Given the description of an element on the screen output the (x, y) to click on. 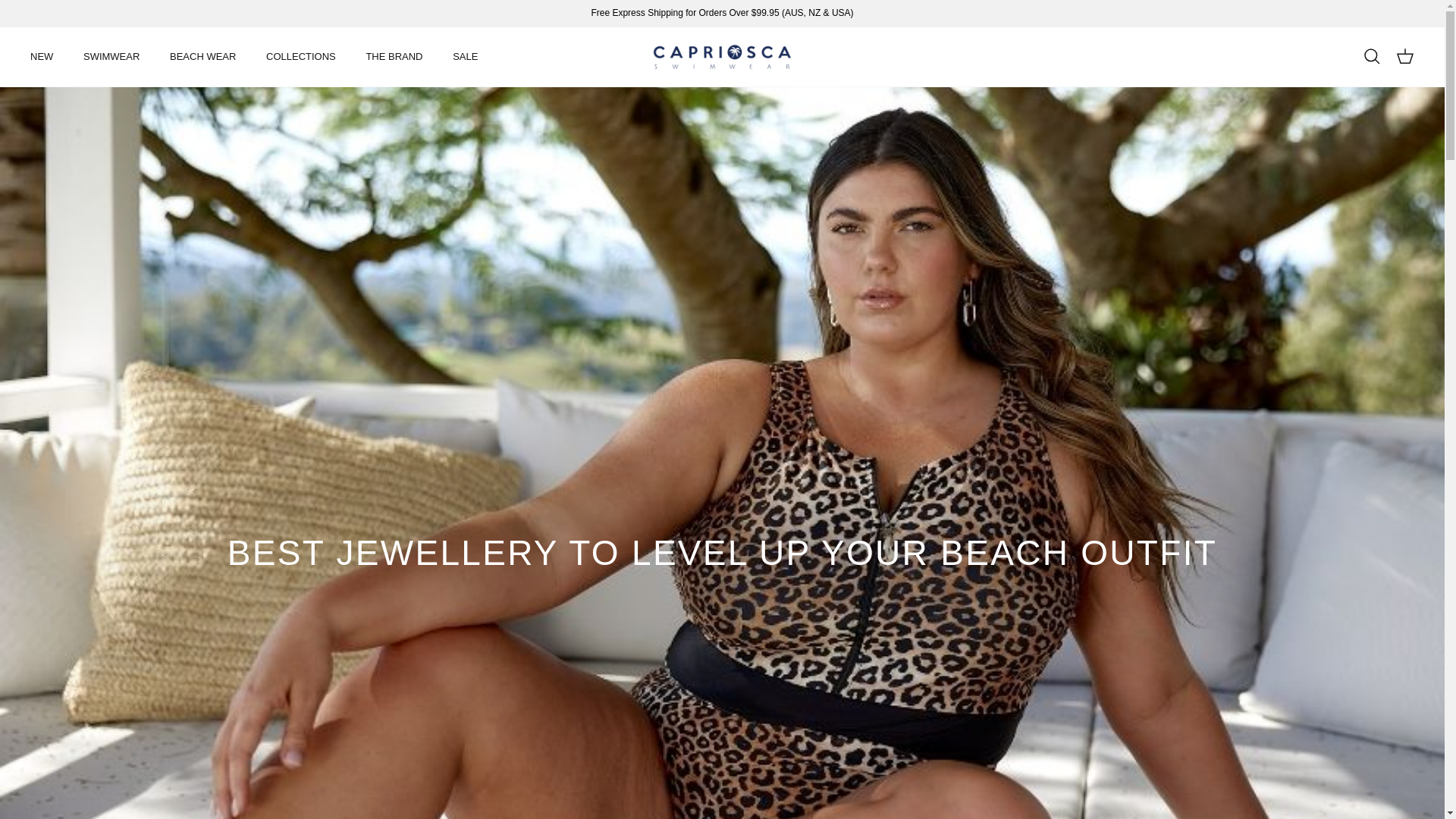
NEW (41, 56)
BEACH WEAR (201, 56)
THE BRAND (393, 56)
Cart (1404, 56)
SWIMWEAR (110, 56)
Search (1371, 56)
COLLECTIONS (300, 56)
SALE (465, 56)
